Given the description of an element on the screen output the (x, y) to click on. 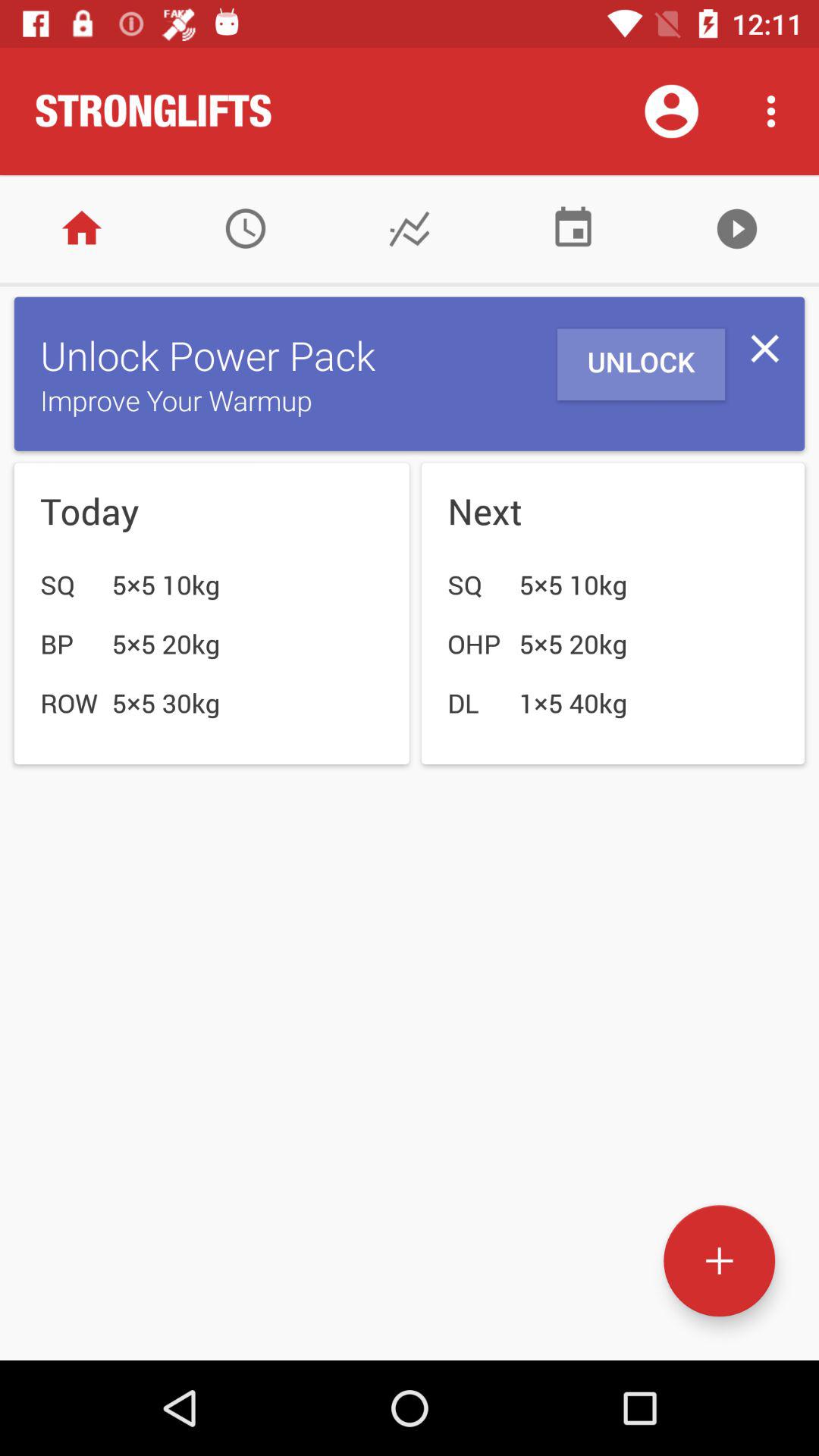
view workout schedule (573, 228)
